Given the description of an element on the screen output the (x, y) to click on. 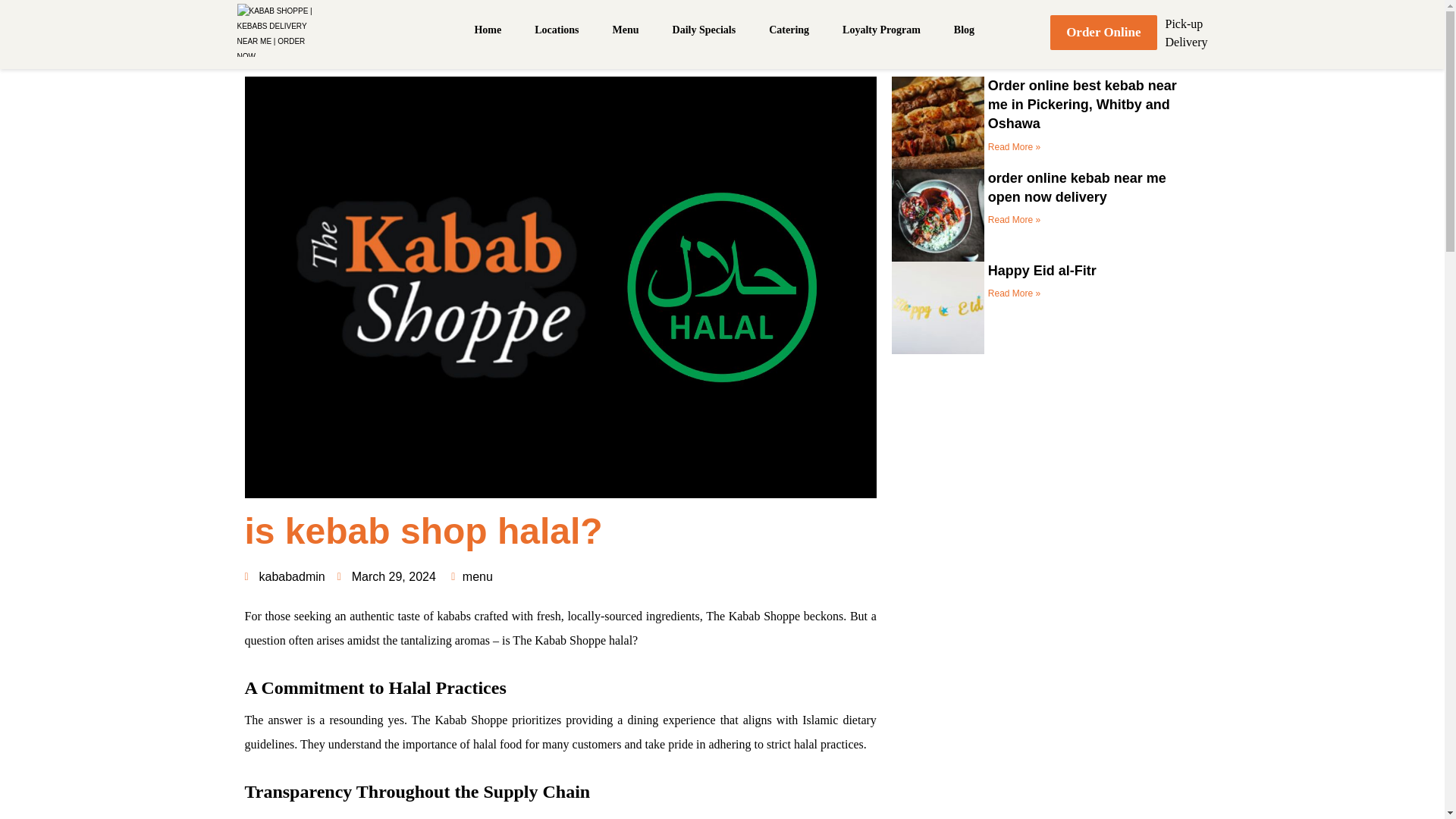
Happy Eid al-Fitr (1042, 270)
Blog (963, 30)
menu (478, 576)
order online kebab near me open now delivery (1077, 187)
Locations (555, 30)
March 29, 2024 (386, 576)
kababadmin (284, 576)
Menu (625, 30)
Catering (789, 30)
Loyalty Program (881, 30)
Order Online (1102, 32)
Daily Specials (704, 30)
Home (487, 30)
